Given the description of an element on the screen output the (x, y) to click on. 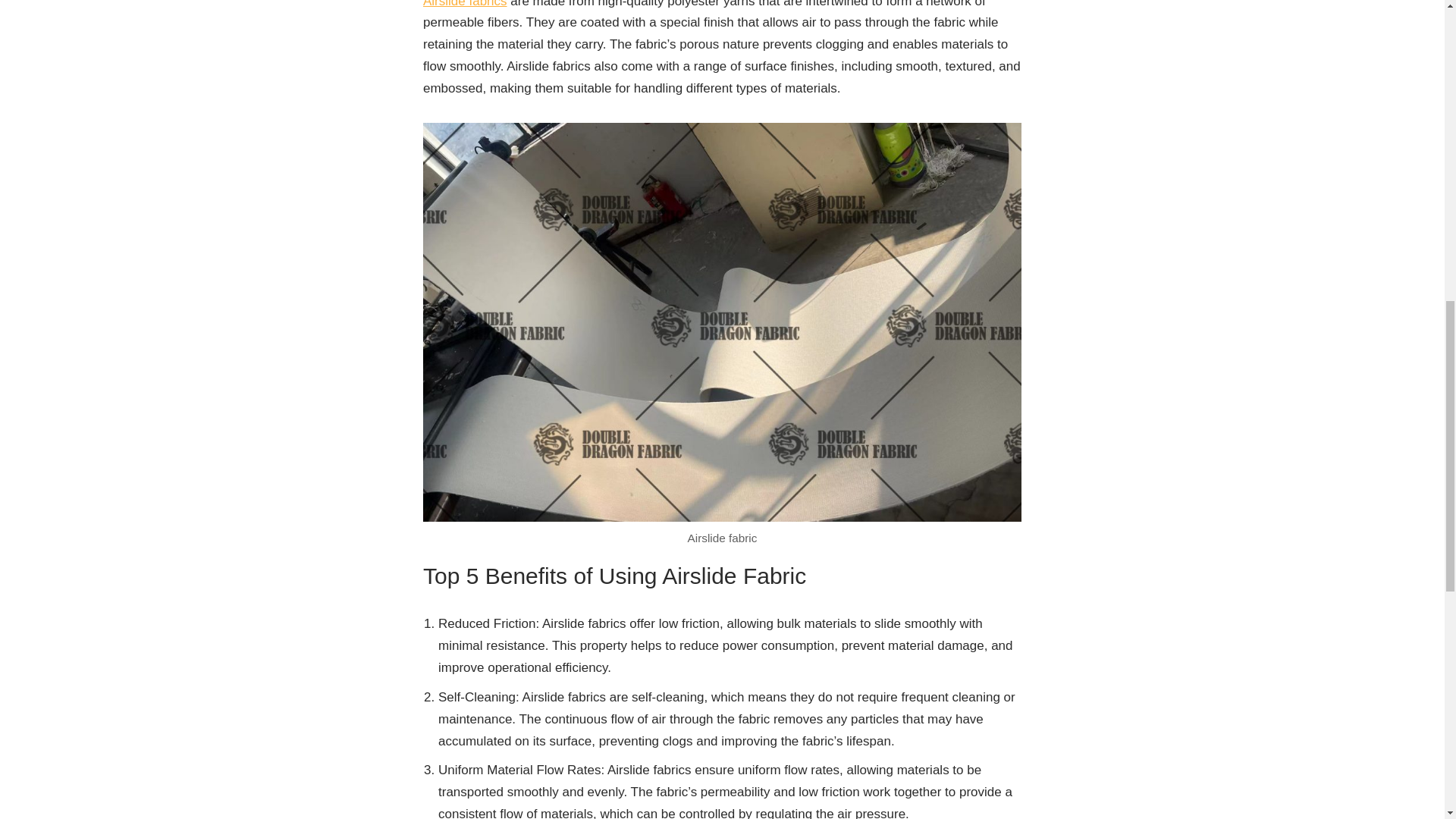
Airslide fabrics (464, 4)
